Given the description of an element on the screen output the (x, y) to click on. 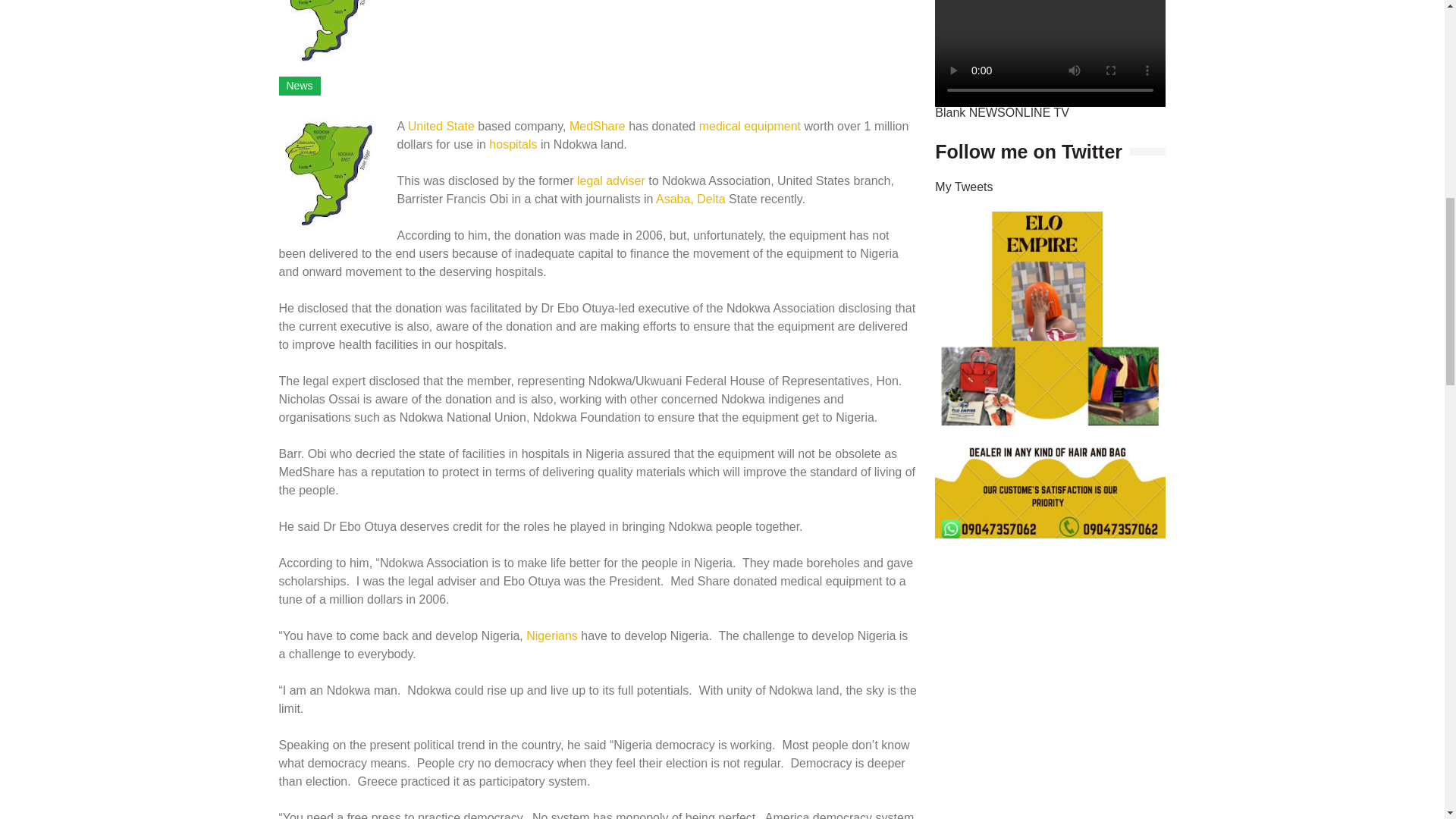
Medical equipment (749, 125)
MedShare (597, 125)
Legal Adviser of the Department of State (610, 180)
ndokwa map (328, 173)
Asaba, Delta (690, 198)
Nigeria (551, 635)
United States (440, 125)
Hospitals (513, 144)
